Given the description of an element on the screen output the (x, y) to click on. 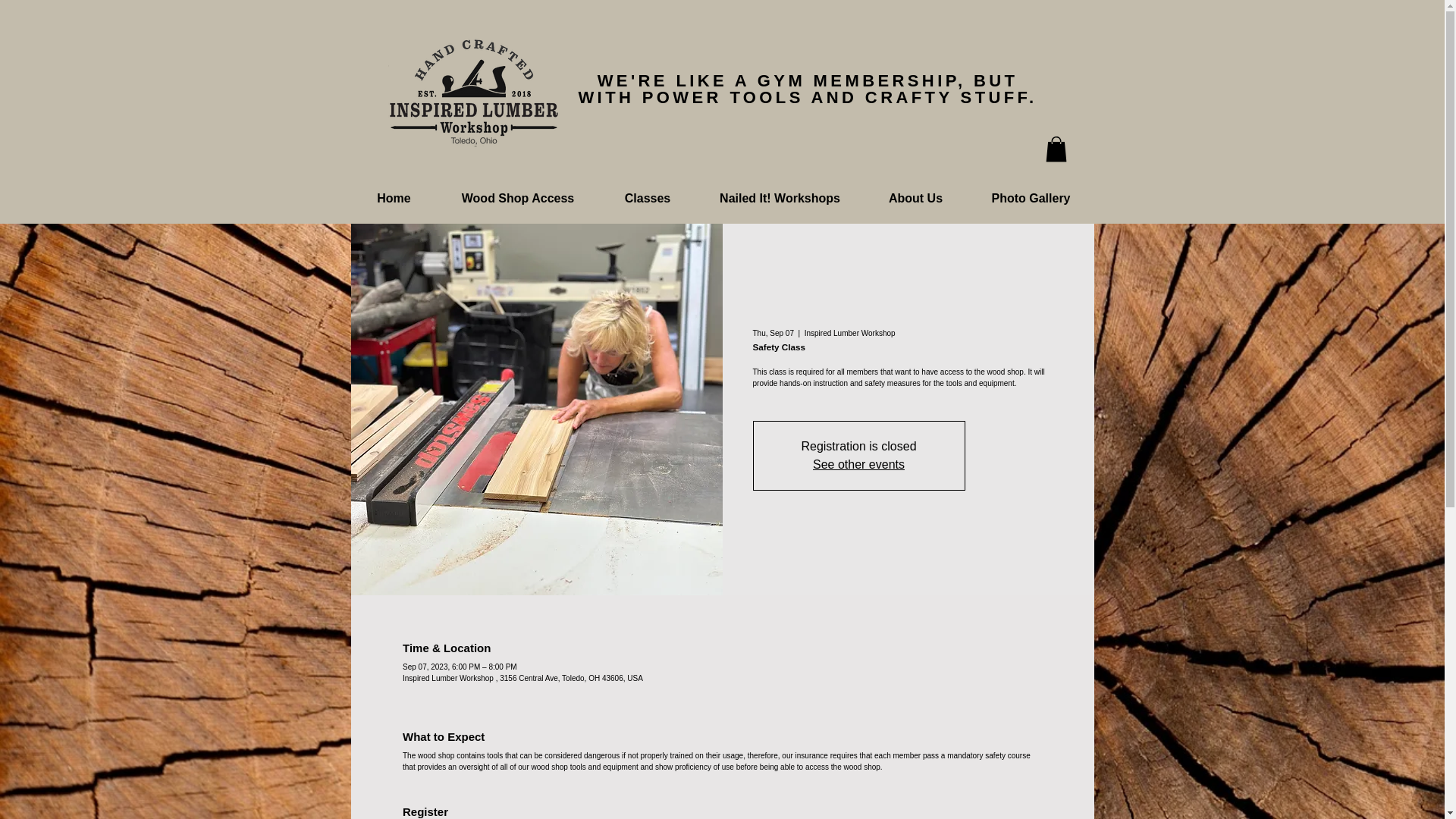
Nailed It! Workshops (779, 198)
Wood Shop Access (517, 198)
Home (393, 198)
About Us (915, 198)
Photo Gallery (1030, 198)
See other events (858, 463)
Classes (647, 198)
